Given the description of an element on the screen output the (x, y) to click on. 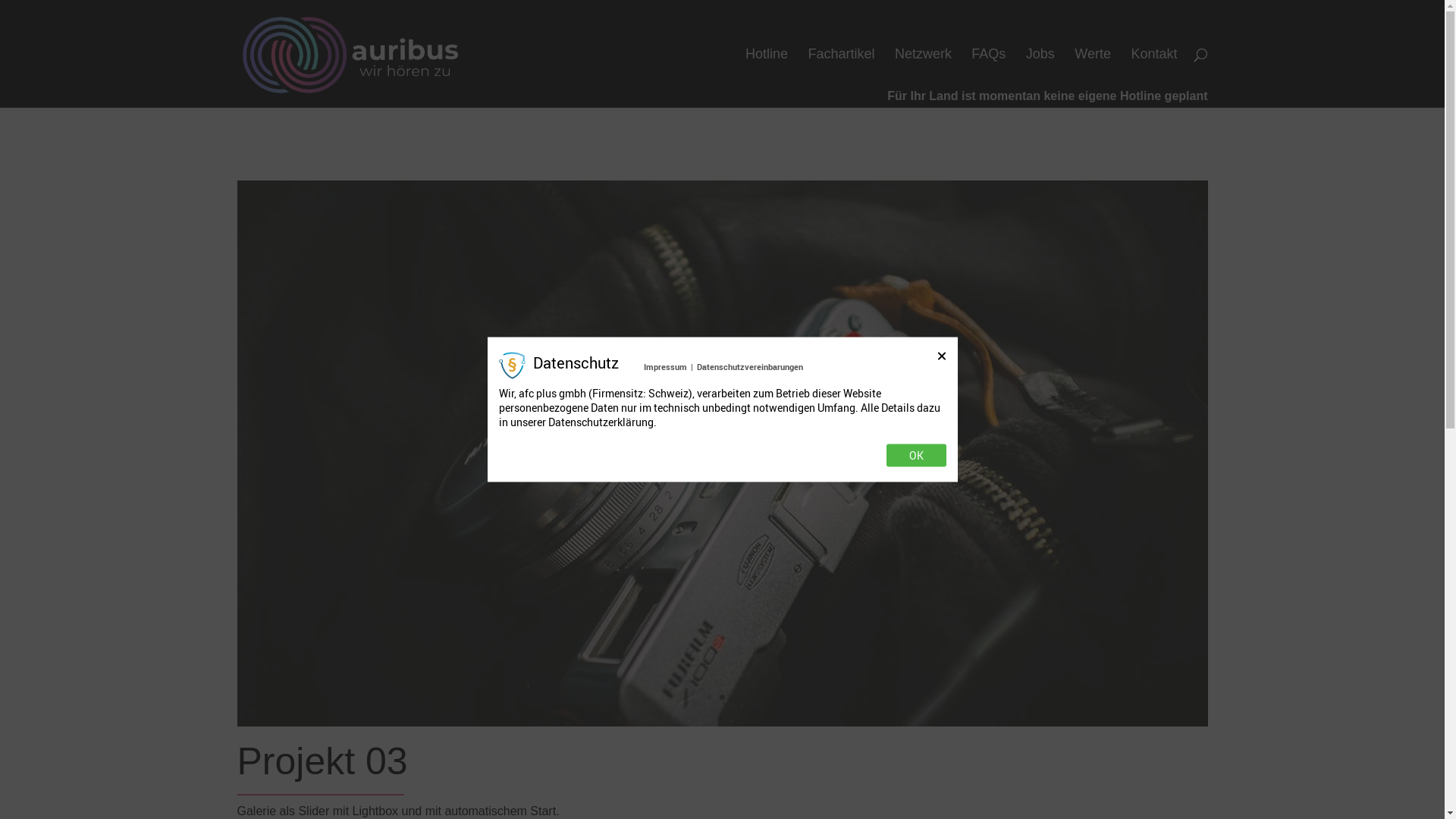
FAQs Element type: text (988, 77)
Netzwerk Element type: text (922, 77)
Werte Element type: text (1092, 77)
3 Element type: text (734, 696)
Datenschutzvereinbarungen Element type: text (749, 366)
Fachartikel Element type: text (840, 77)
Jobs Element type: text (1040, 77)
ONE-fotoapparate-1280x720 Element type: hover (721, 725)
1 Element type: text (709, 696)
2 Element type: text (721, 696)
Impressum Element type: text (665, 366)
Hotline Element type: text (766, 77)
OK Element type: text (915, 454)
Kontakt Element type: text (1153, 77)
